Given the description of an element on the screen output the (x, y) to click on. 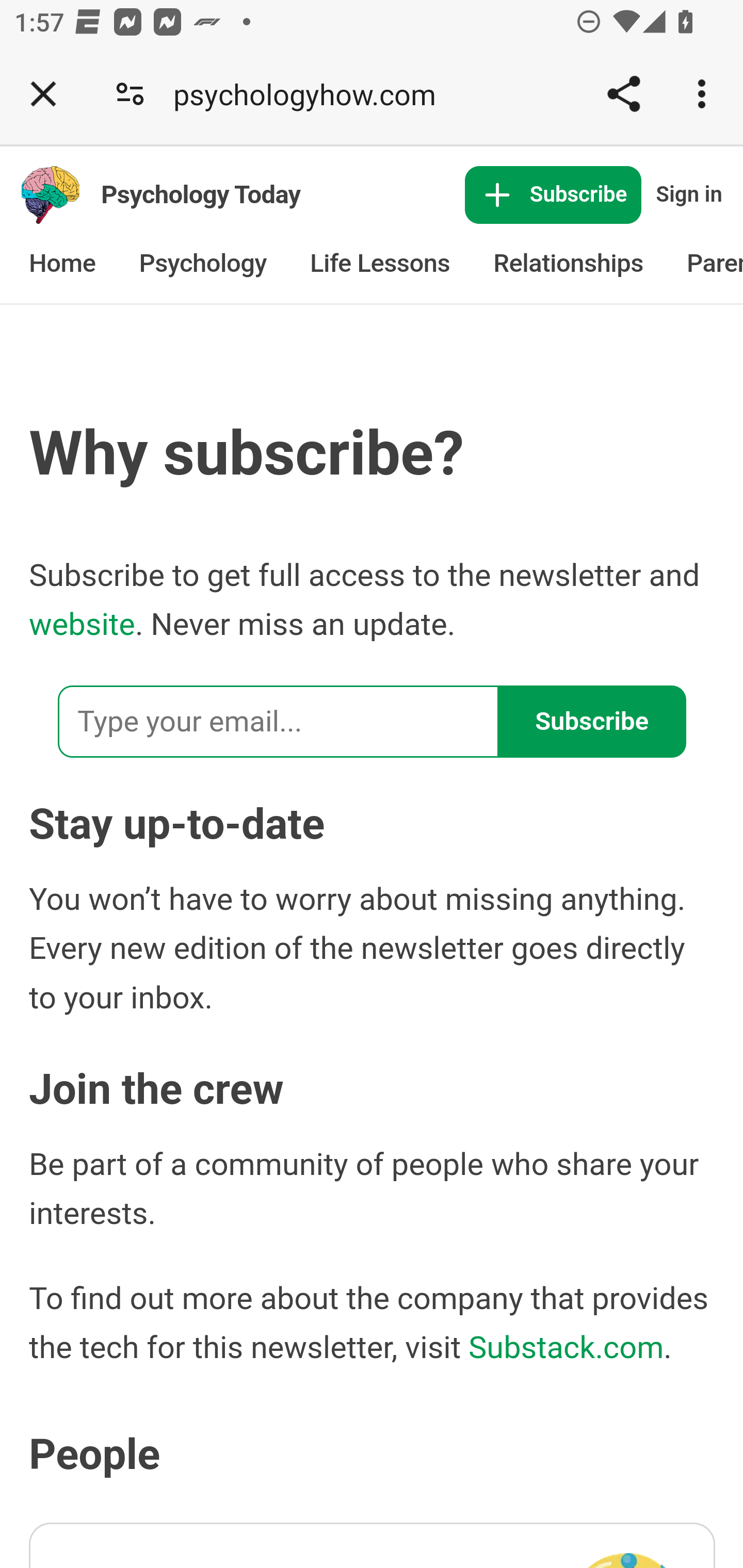
Close tab (43, 93)
Share (623, 93)
Customize and control Google Chrome (705, 93)
Connection is secure (129, 93)
psychologyhow.com (312, 93)
Subscribe (552, 195)
Sign in (685, 195)
Psychology Today (201, 194)
Home (62, 264)
Psychology (202, 264)
Life Lessons (379, 264)
Relationships (568, 264)
website (81, 625)
Subscribe (592, 720)
Substack.com (565, 1346)
